Given the description of an element on the screen output the (x, y) to click on. 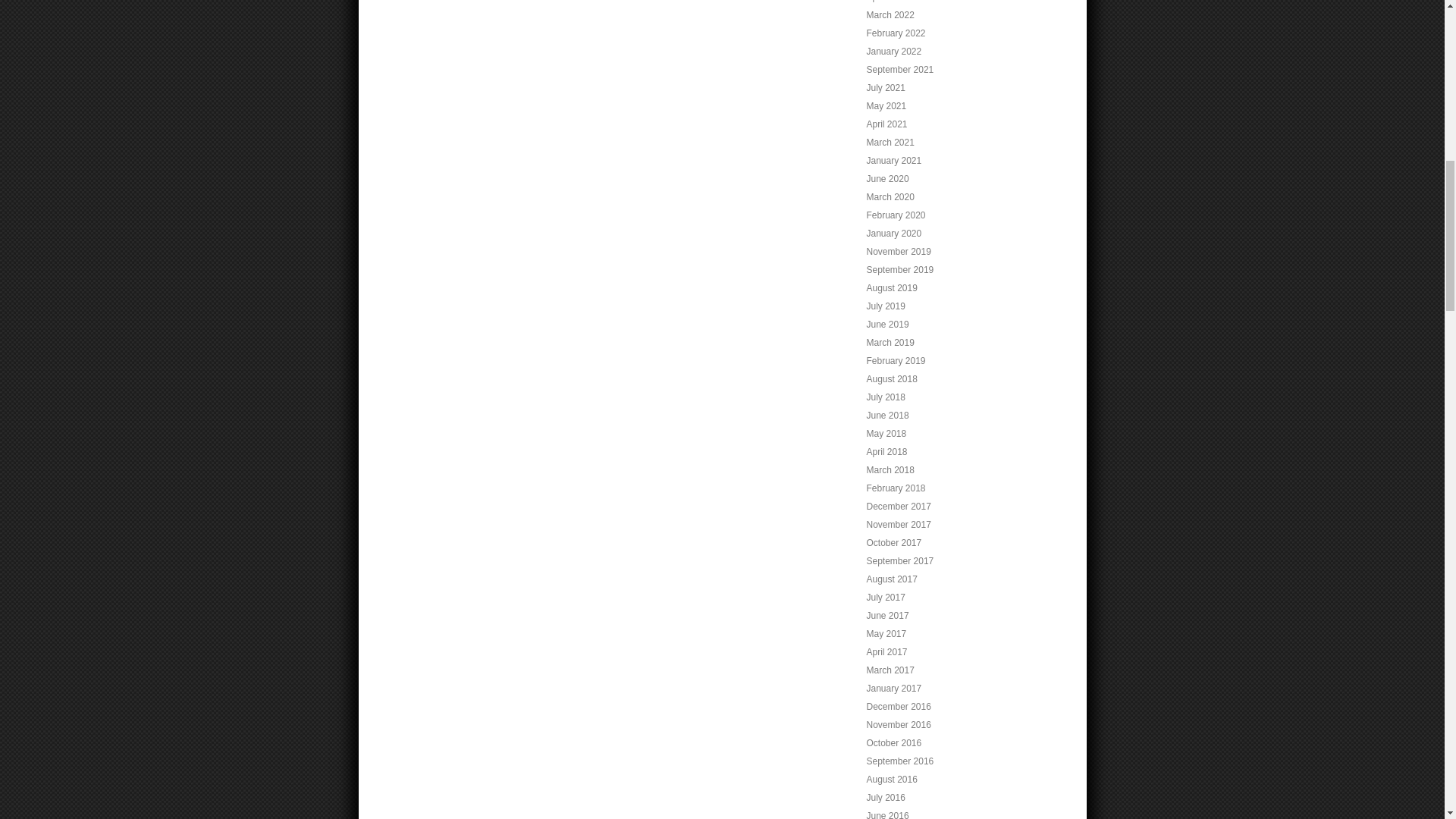
April 2022 (886, 1)
March 2022 (890, 14)
